Given the description of an element on the screen output the (x, y) to click on. 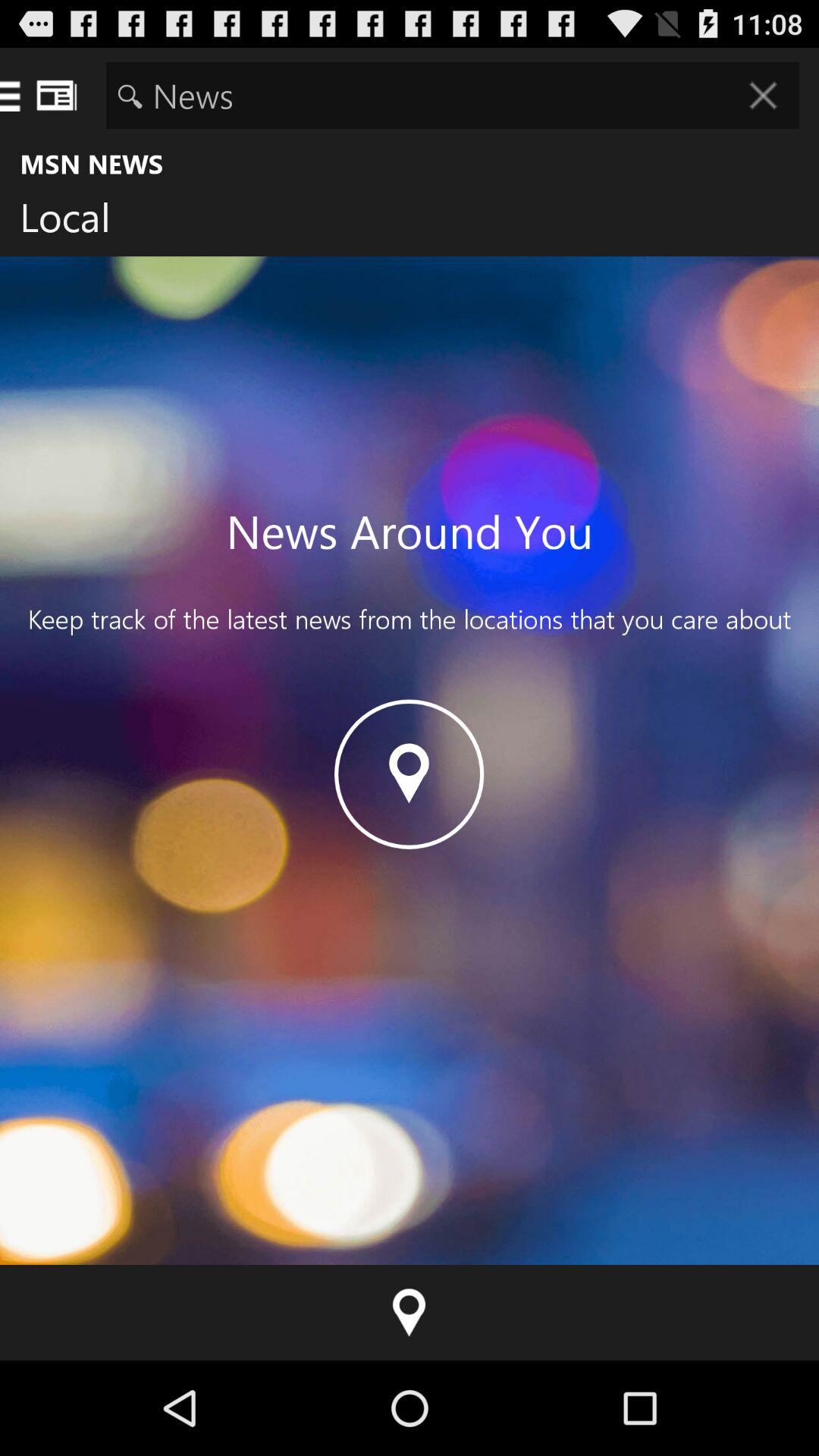
tap the icon below msn news (77, 220)
